Given the description of an element on the screen output the (x, y) to click on. 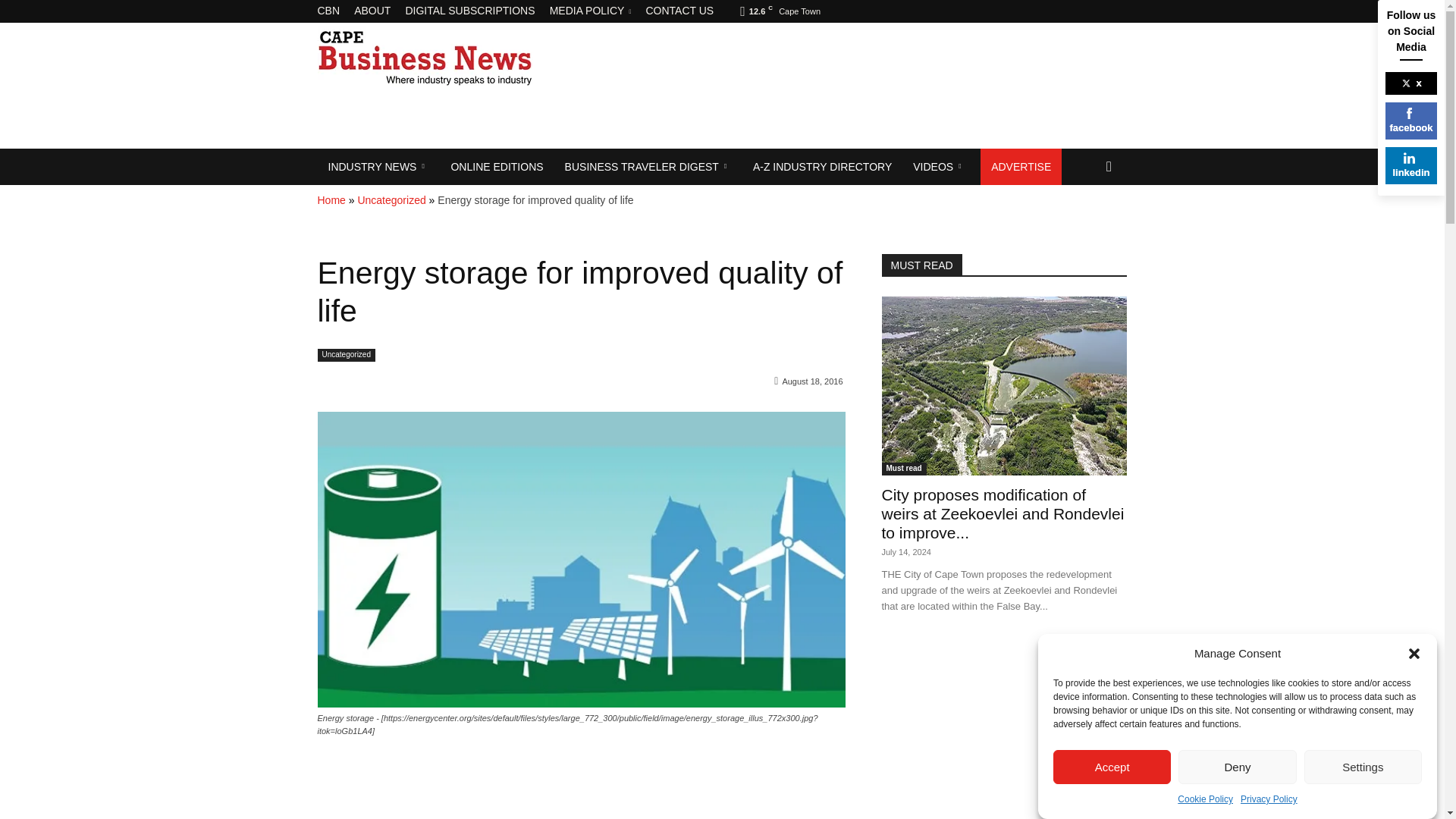
3rd party ad content (924, 58)
3rd party ad content (989, 120)
3rd party ad content (715, 120)
